Given the description of an element on the screen output the (x, y) to click on. 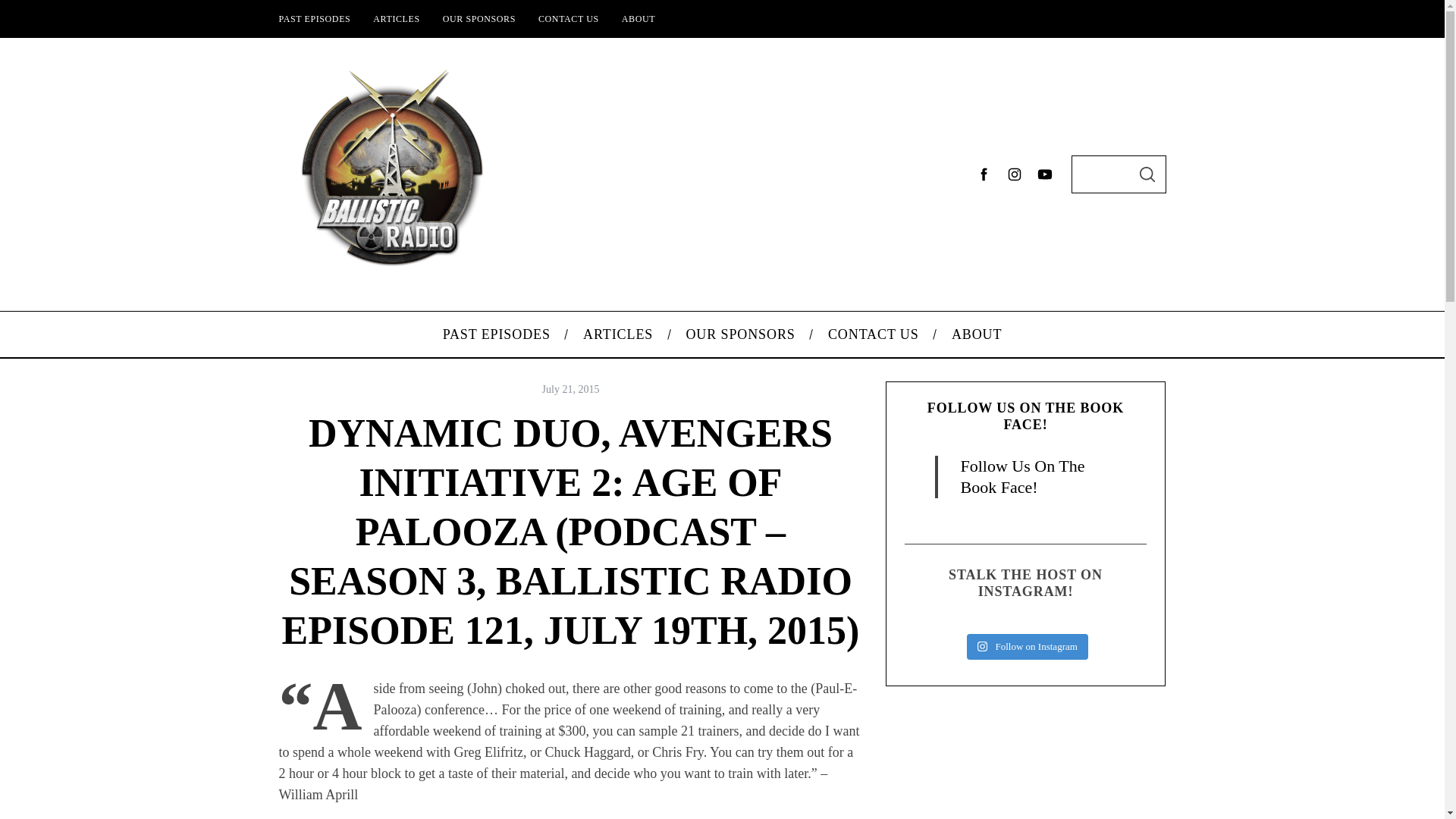
Follow Us On The Book Face! (1021, 476)
FOLLOW US ON THE BOOK FACE! (1025, 416)
ARTICLES (395, 18)
OUR SPONSORS (478, 18)
ABOUT (975, 334)
CONTACT US (568, 18)
PAST EPISODES (313, 18)
CONTACT US (872, 334)
Follow on Instagram (1026, 646)
SEARCH (1147, 174)
